Given the description of an element on the screen output the (x, y) to click on. 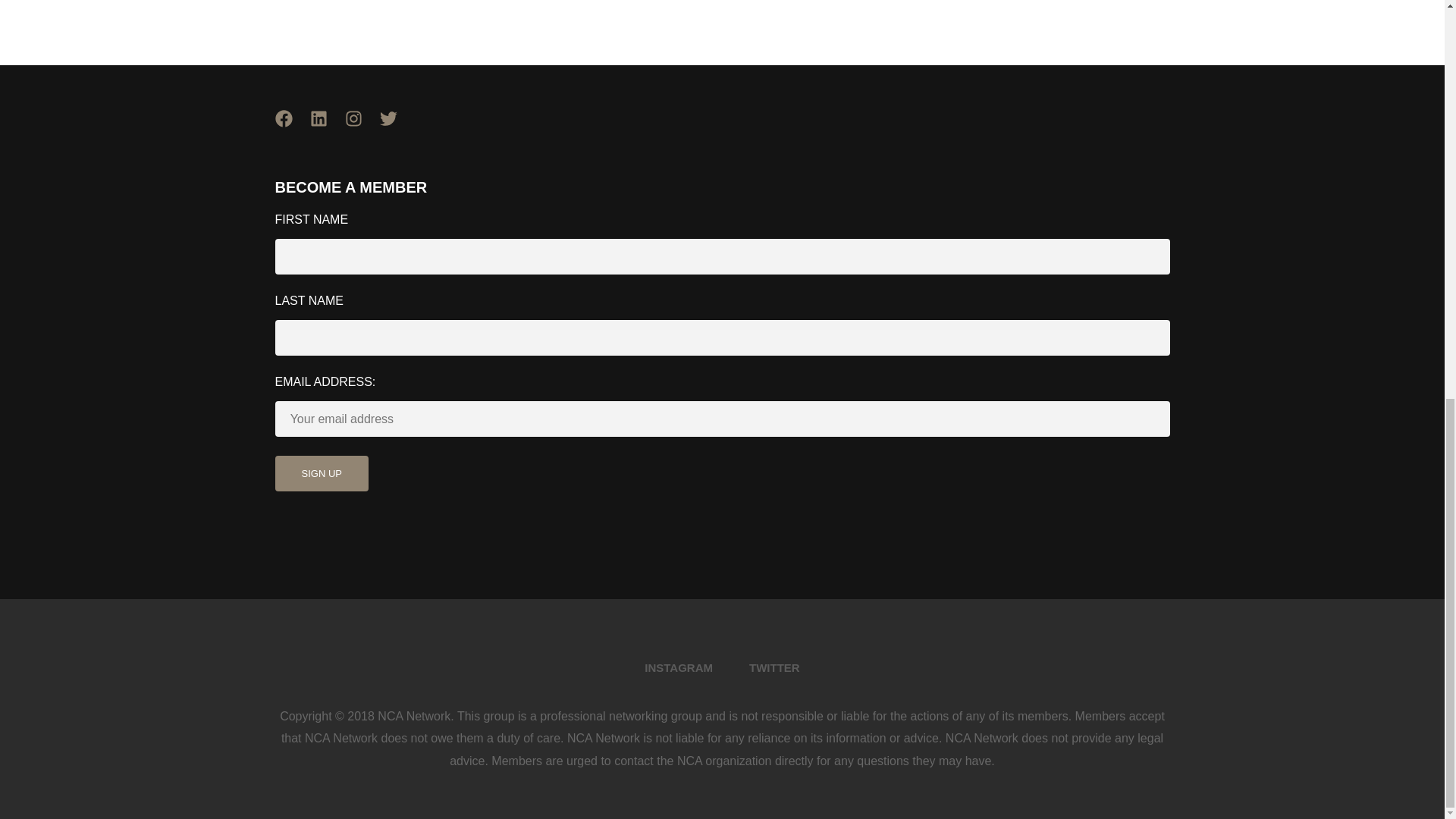
Linkedin (325, 126)
SIGN UP (321, 473)
TWITTER (774, 667)
INSTAGRAM (678, 667)
Instagram (360, 126)
Twitter (395, 126)
Facebook (291, 126)
